Given the description of an element on the screen output the (x, y) to click on. 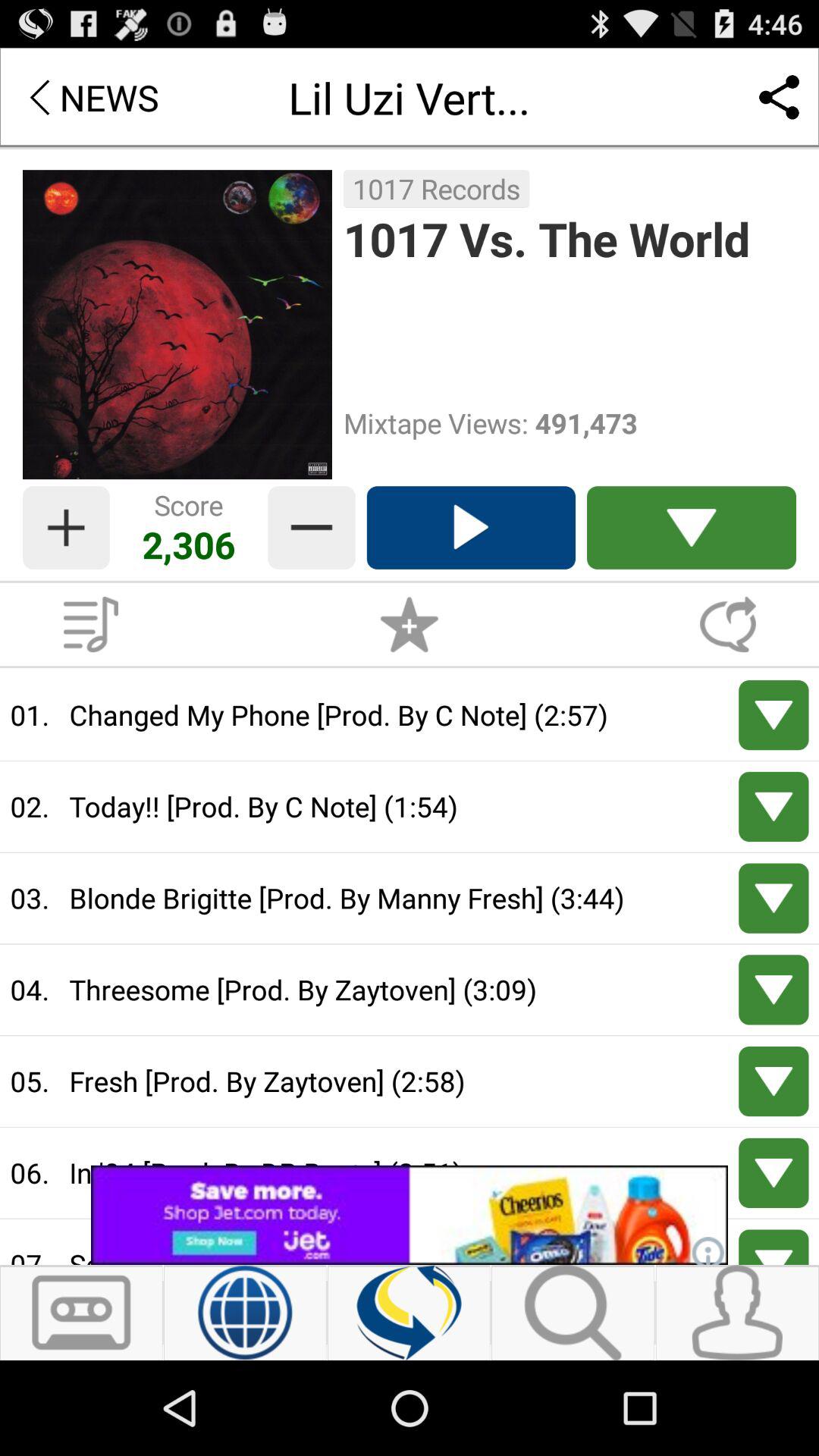
select next botton (773, 1246)
